Given the description of an element on the screen output the (x, y) to click on. 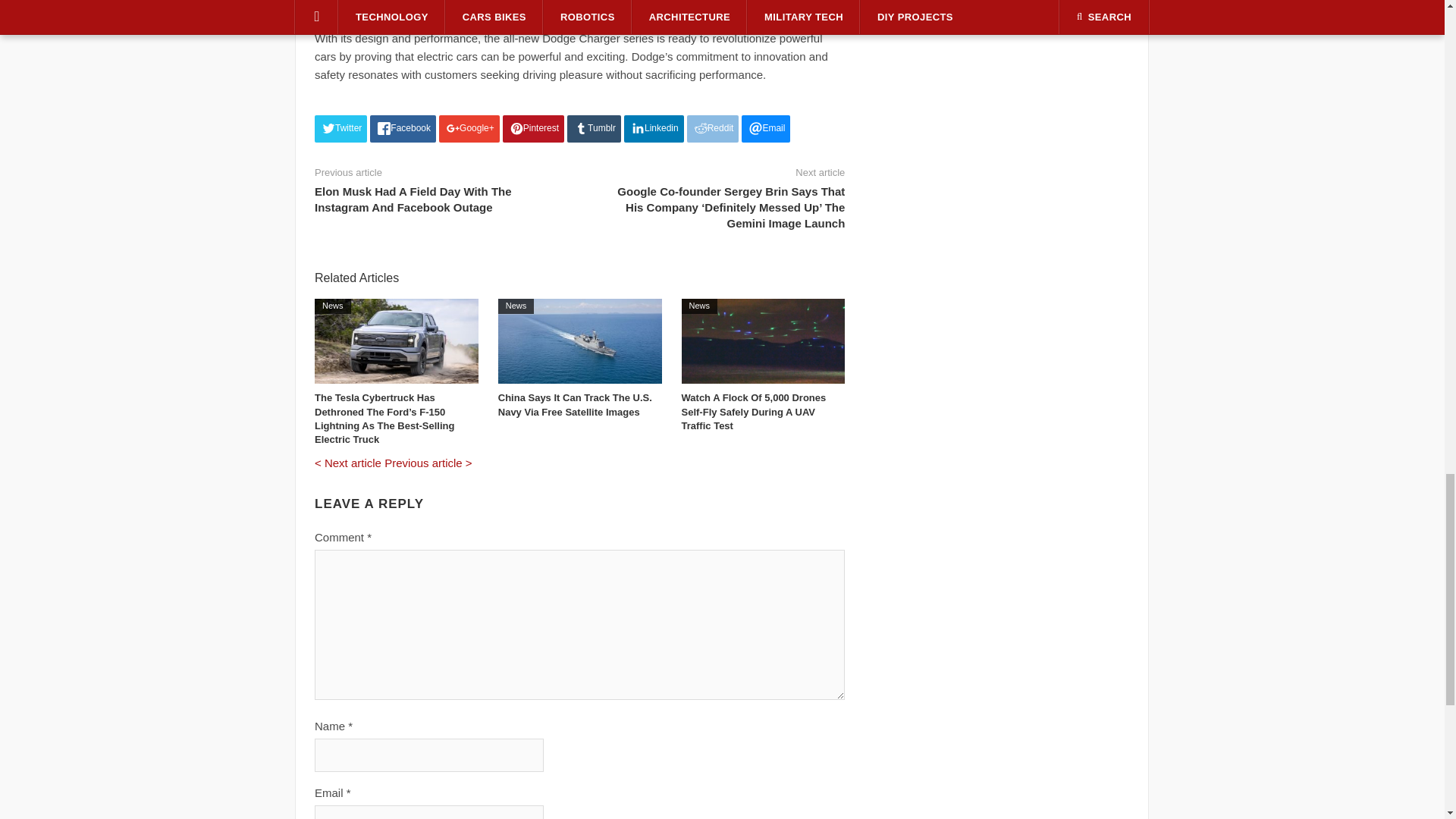
Twitter (340, 128)
Facebook (402, 128)
Email (765, 128)
Tumblr (594, 128)
Pinterest (533, 128)
Linkedin (654, 128)
Reddit (713, 128)
